Given the description of an element on the screen output the (x, y) to click on. 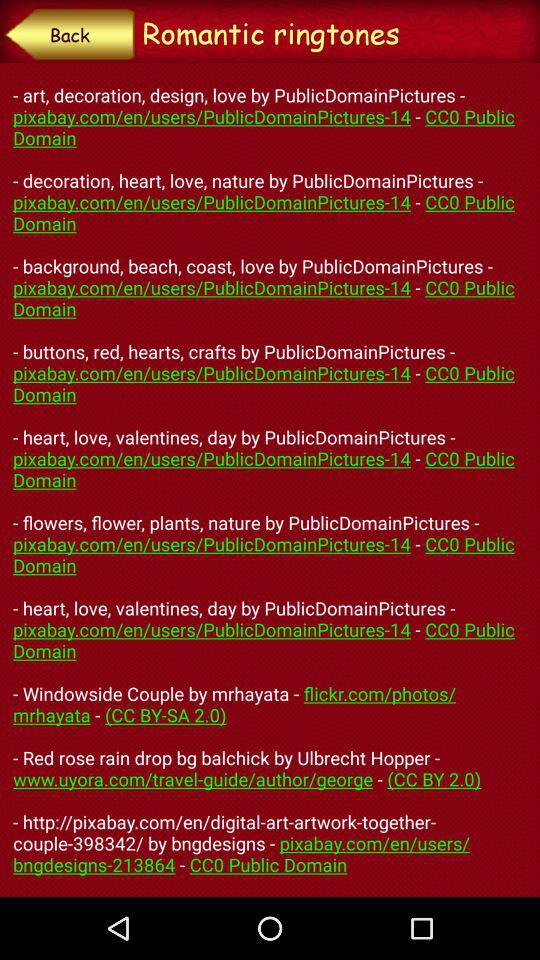
turn on endless love songs icon (269, 479)
